Given the description of an element on the screen output the (x, y) to click on. 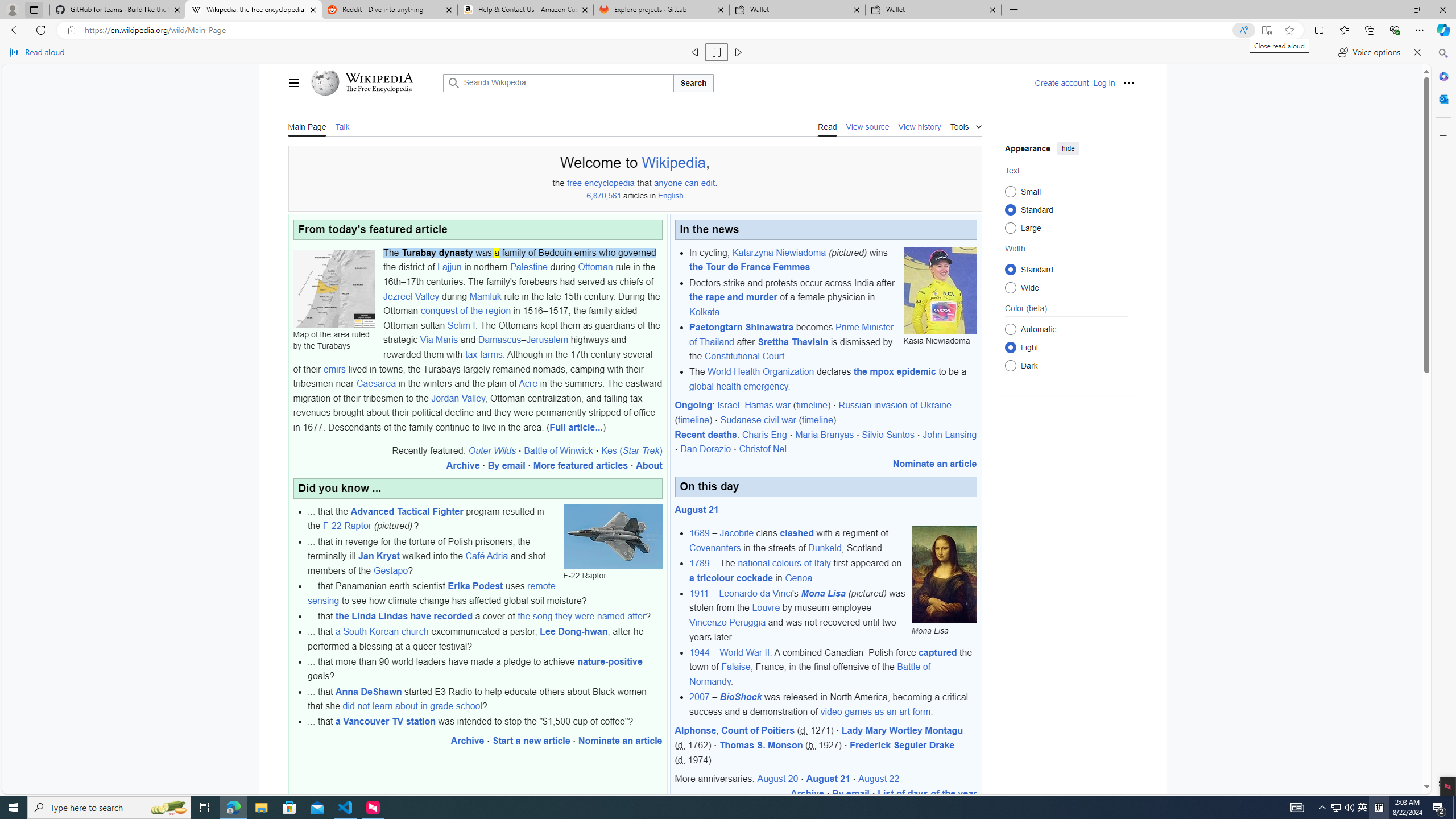
the rape and murder (732, 297)
Pause read aloud (Ctrl+Shift+U) (716, 52)
Christof Nel (762, 448)
1689 (699, 533)
the mpox epidemic (894, 371)
Thomas S. Monson (761, 744)
F-22 Raptor (612, 535)
View history (919, 125)
Light (1010, 346)
nature-positive (609, 661)
